Given the description of an element on the screen output the (x, y) to click on. 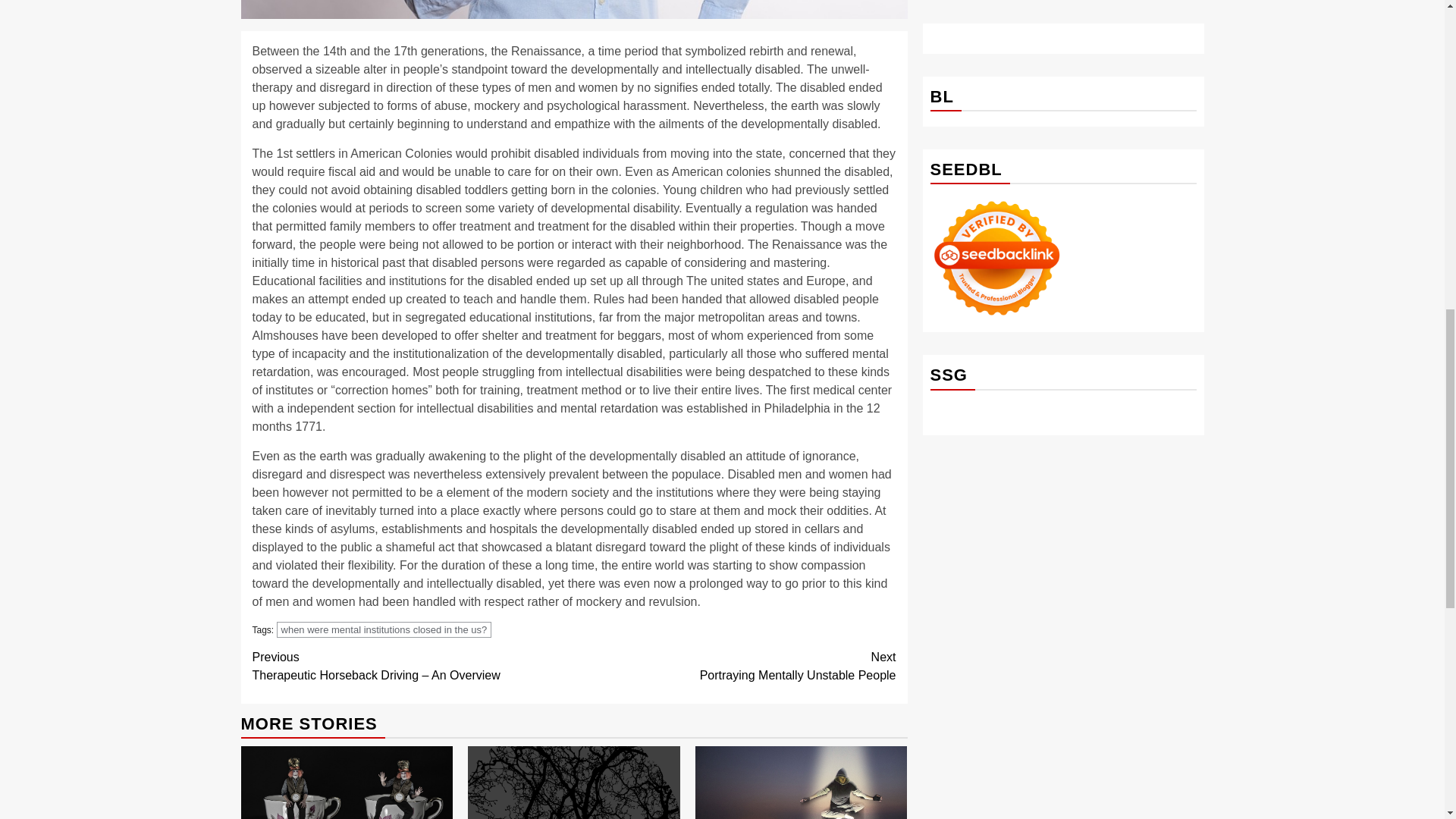
when were mental institutions closed in the us? (384, 629)
The Renaissance: Comprehension the Developmentally Disabled (734, 666)
Dealing With Mental Health Concerns In Nigeria (574, 9)
